Given the description of an element on the screen output the (x, y) to click on. 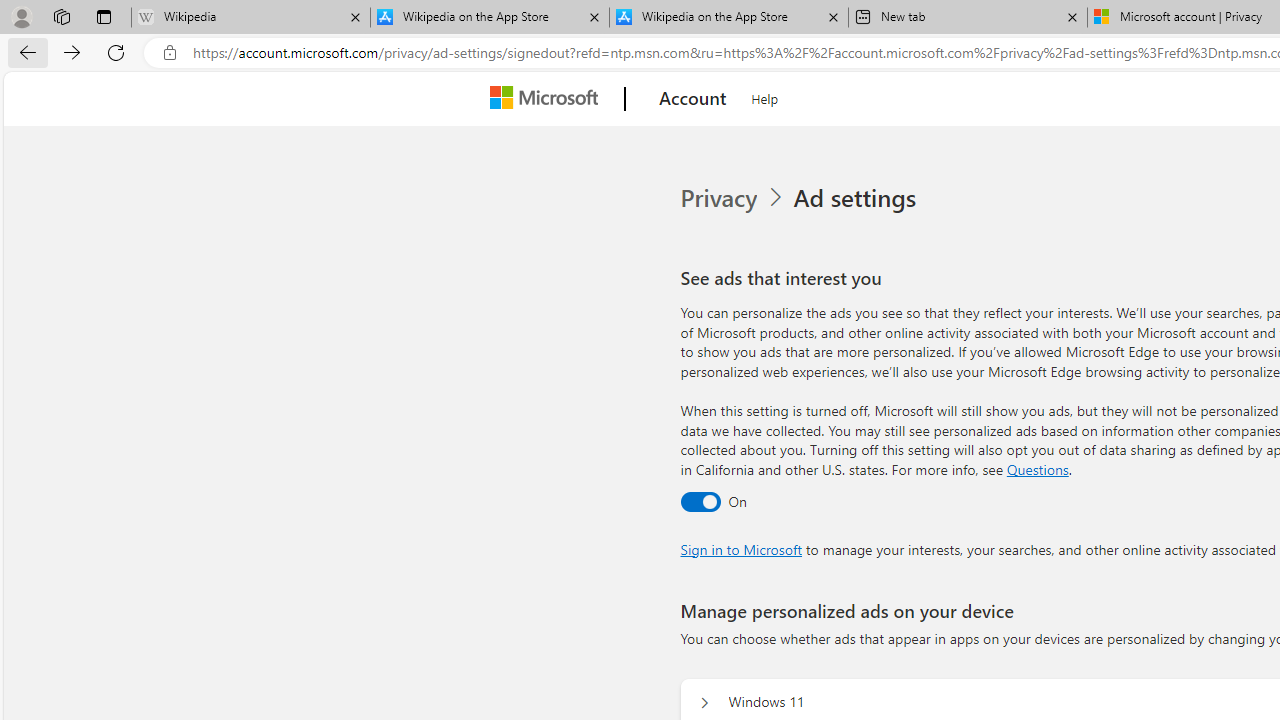
Ad settings toggle (699, 501)
Go to Questions section (1037, 468)
Manage personalized ads on your device Windows 11 (704, 702)
Ad settings (858, 197)
Account (692, 99)
Sign in to Microsoft (740, 548)
